Given the description of an element on the screen output the (x, y) to click on. 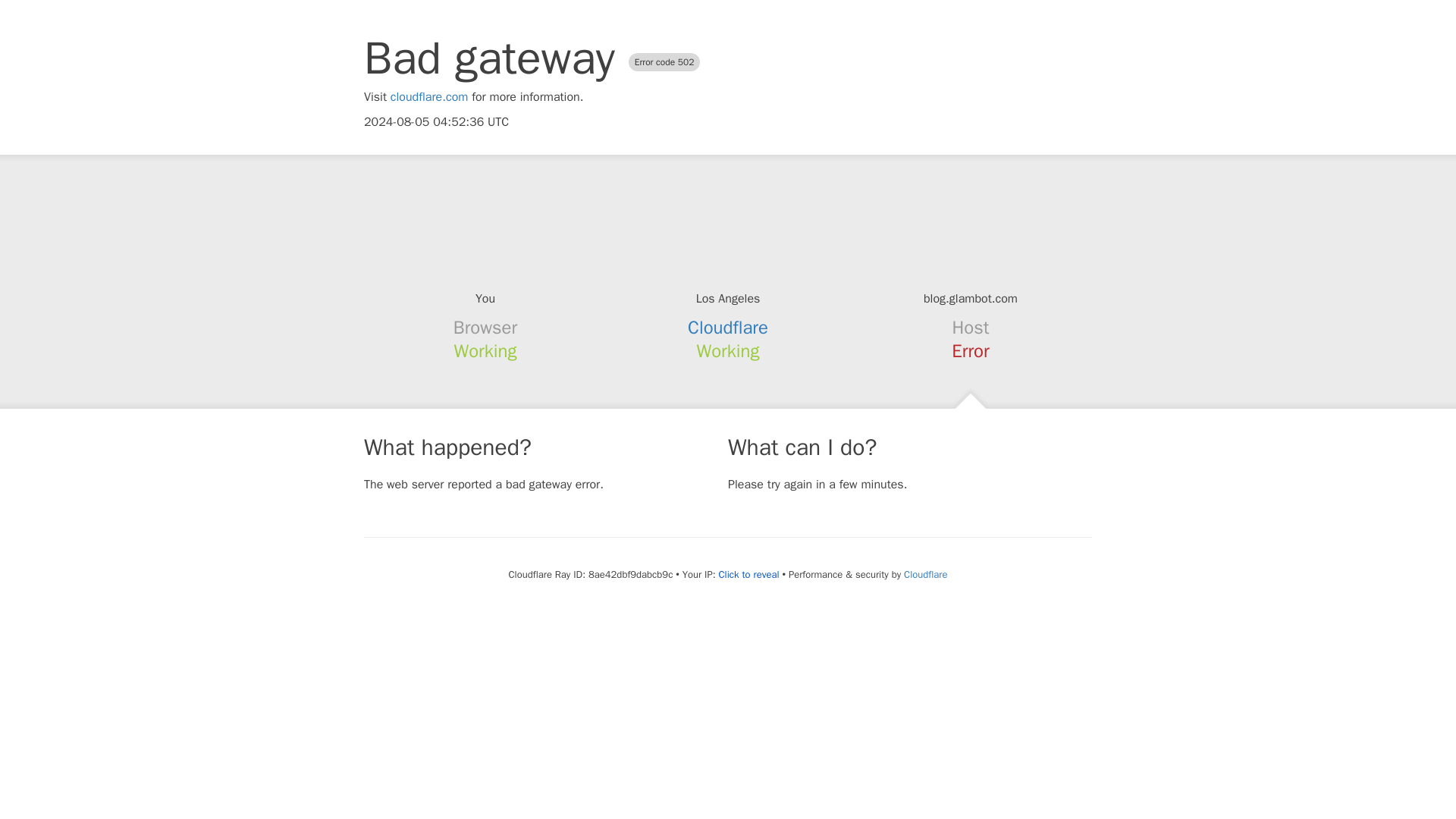
cloudflare.com (429, 96)
Cloudflare (925, 574)
Click to reveal (748, 574)
Cloudflare (727, 327)
